Given the description of an element on the screen output the (x, y) to click on. 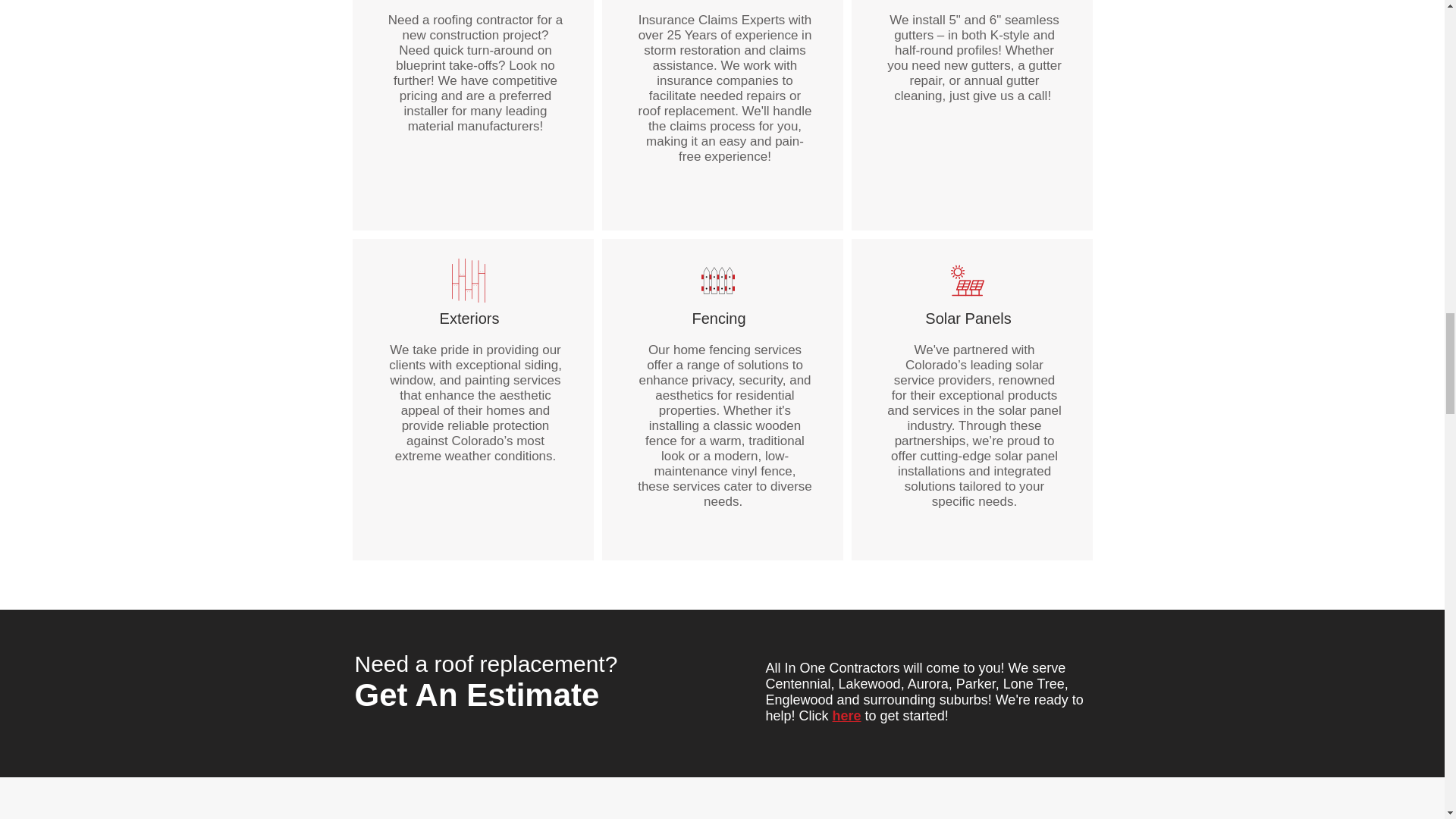
here (846, 715)
